Given the description of an element on the screen output the (x, y) to click on. 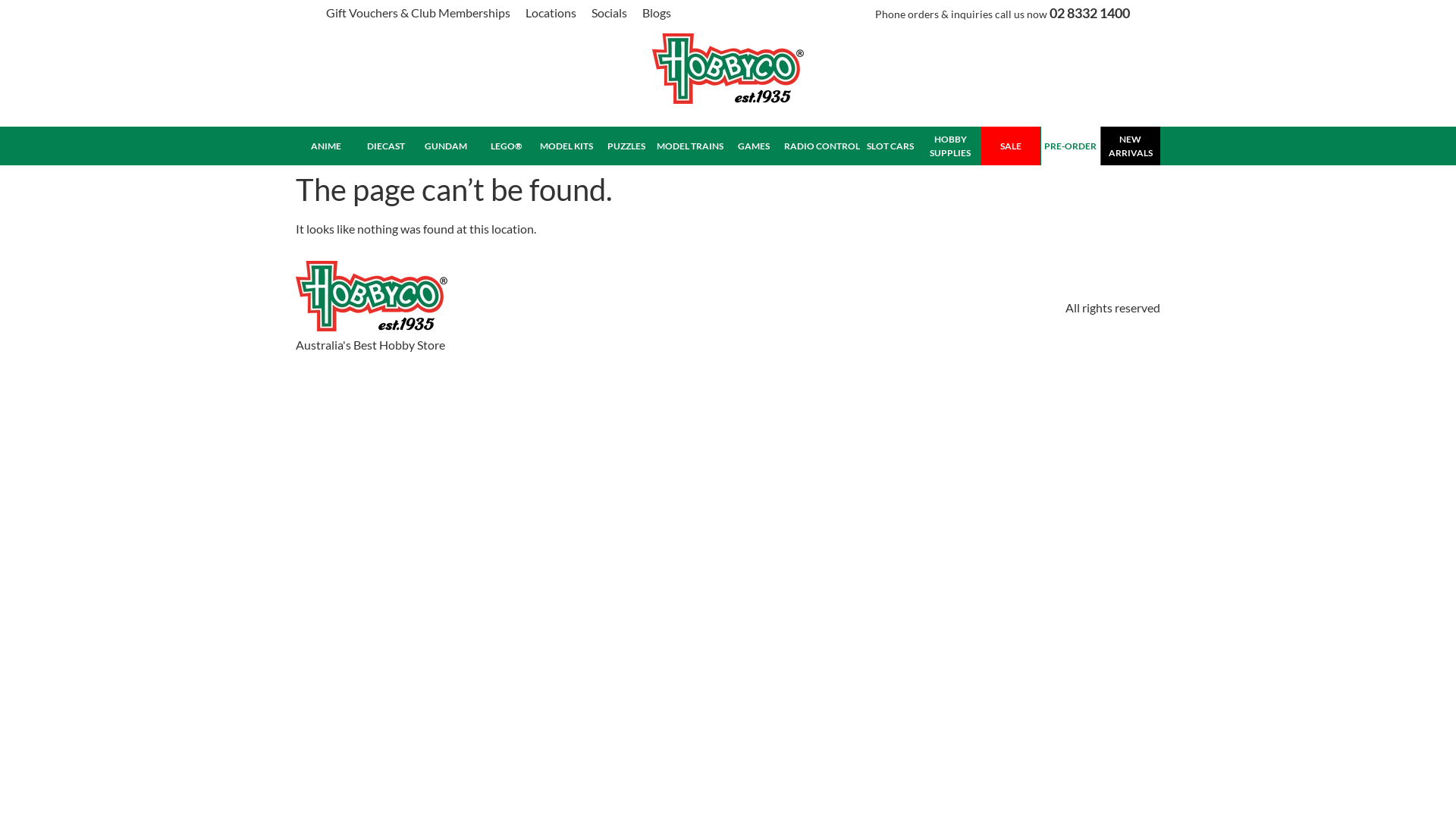
02 8332 1400 Element type: text (1089, 12)
HOBBY
SUPPLIES Element type: text (949, 145)
GAMES Element type: text (753, 145)
MODEL KITS Element type: text (566, 145)
RADIO CONTROL Element type: text (821, 145)
Socials Element type: text (608, 12)
GUNDAM Element type: text (445, 145)
SLOT CARS Element type: text (889, 145)
ANIME Element type: text (325, 145)
PRE-ORDER Element type: text (1070, 145)
NEW
ARRIVALS Element type: text (1130, 145)
SALE Element type: text (1010, 145)
Gift Vouchers & Club Memberships Element type: text (417, 12)
Locations Element type: text (550, 12)
Blogs Element type: text (656, 12)
DIECAST Element type: text (385, 145)
PUZZLES Element type: text (625, 145)
MODEL TRAINS Element type: text (689, 145)
